Given the description of an element on the screen output the (x, y) to click on. 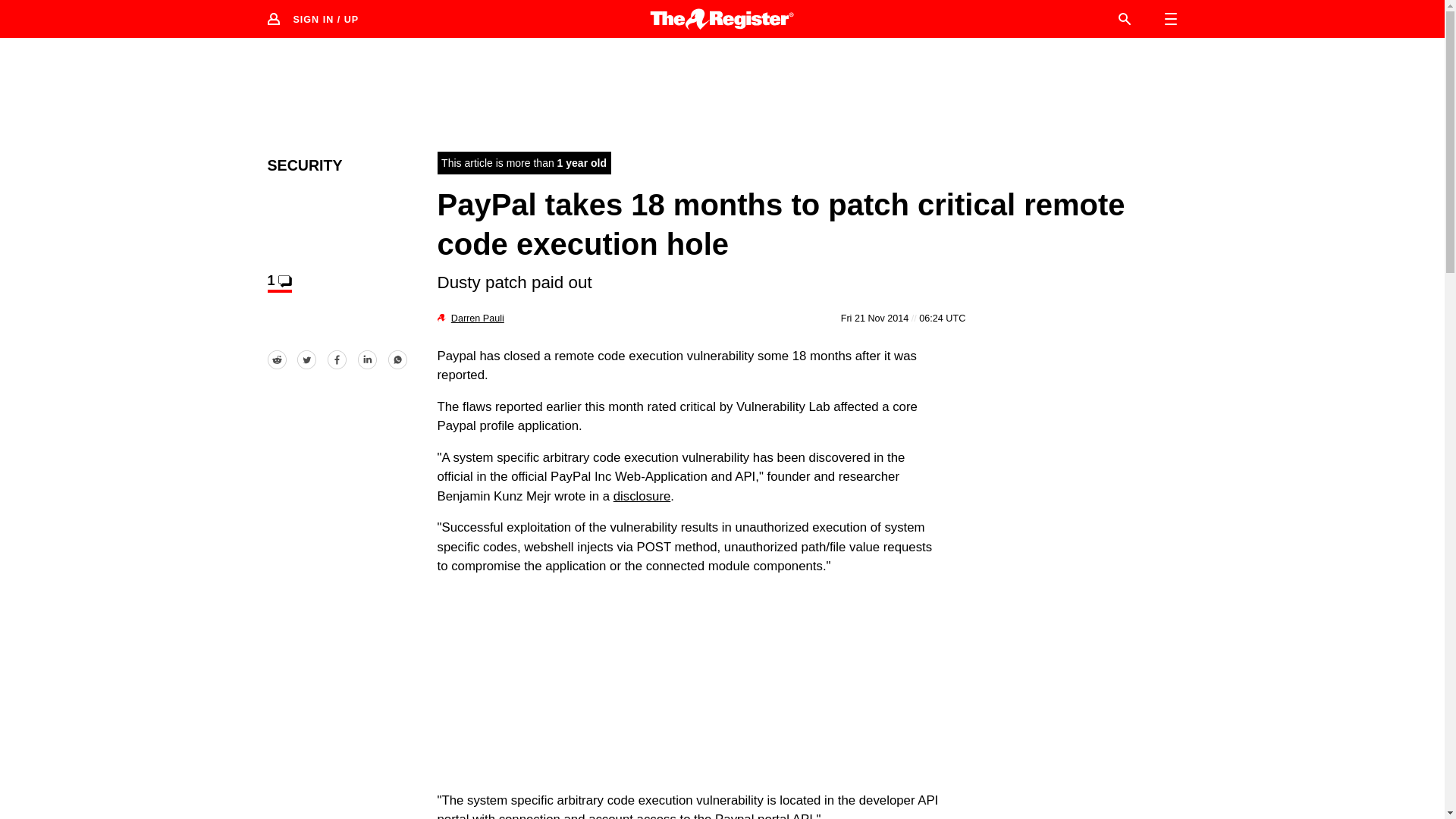
View comments on this article (278, 282)
Read more by this author (477, 318)
